Given the description of an element on the screen output the (x, y) to click on. 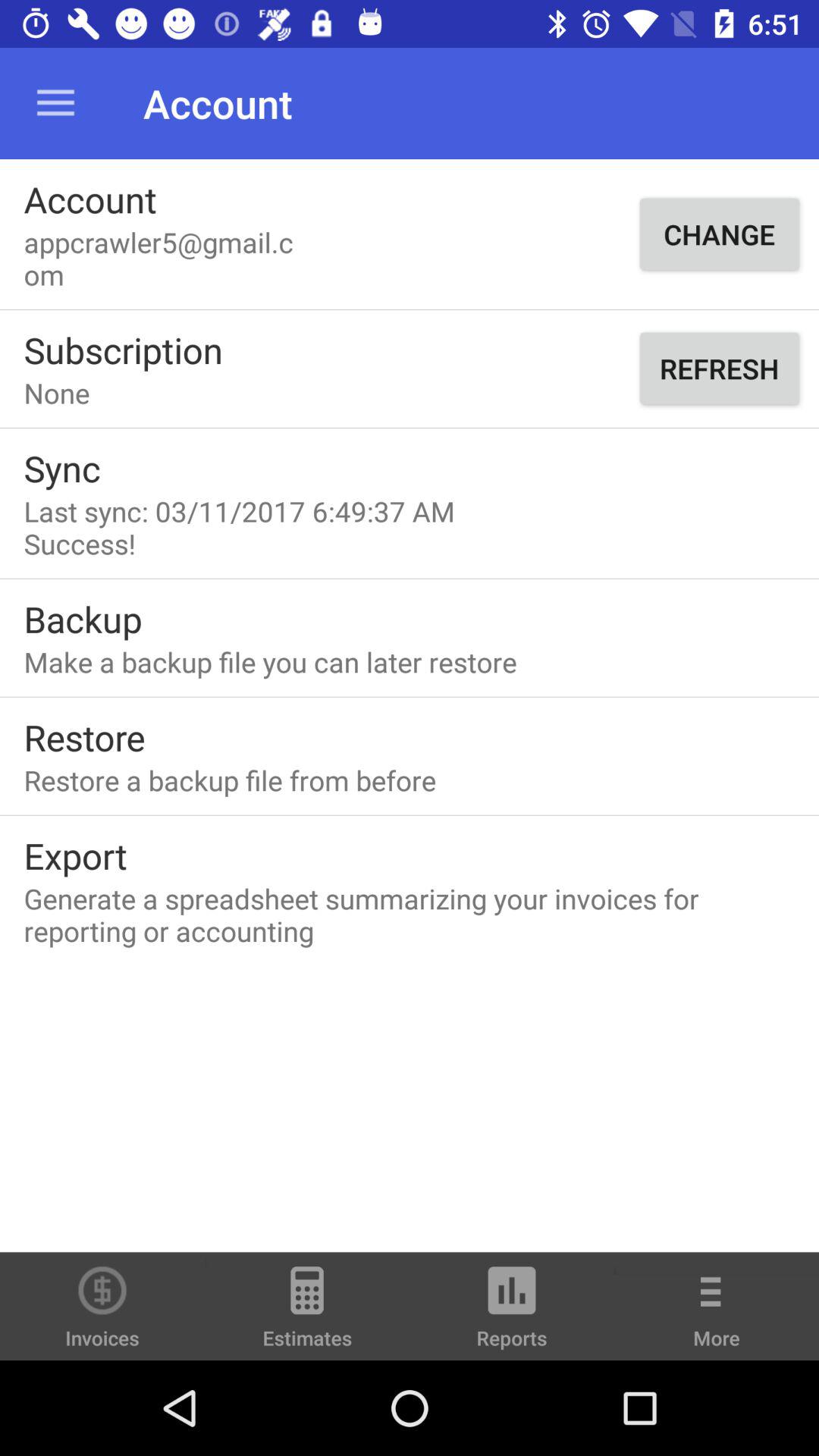
click more icon (716, 1317)
